Given the description of an element on the screen output the (x, y) to click on. 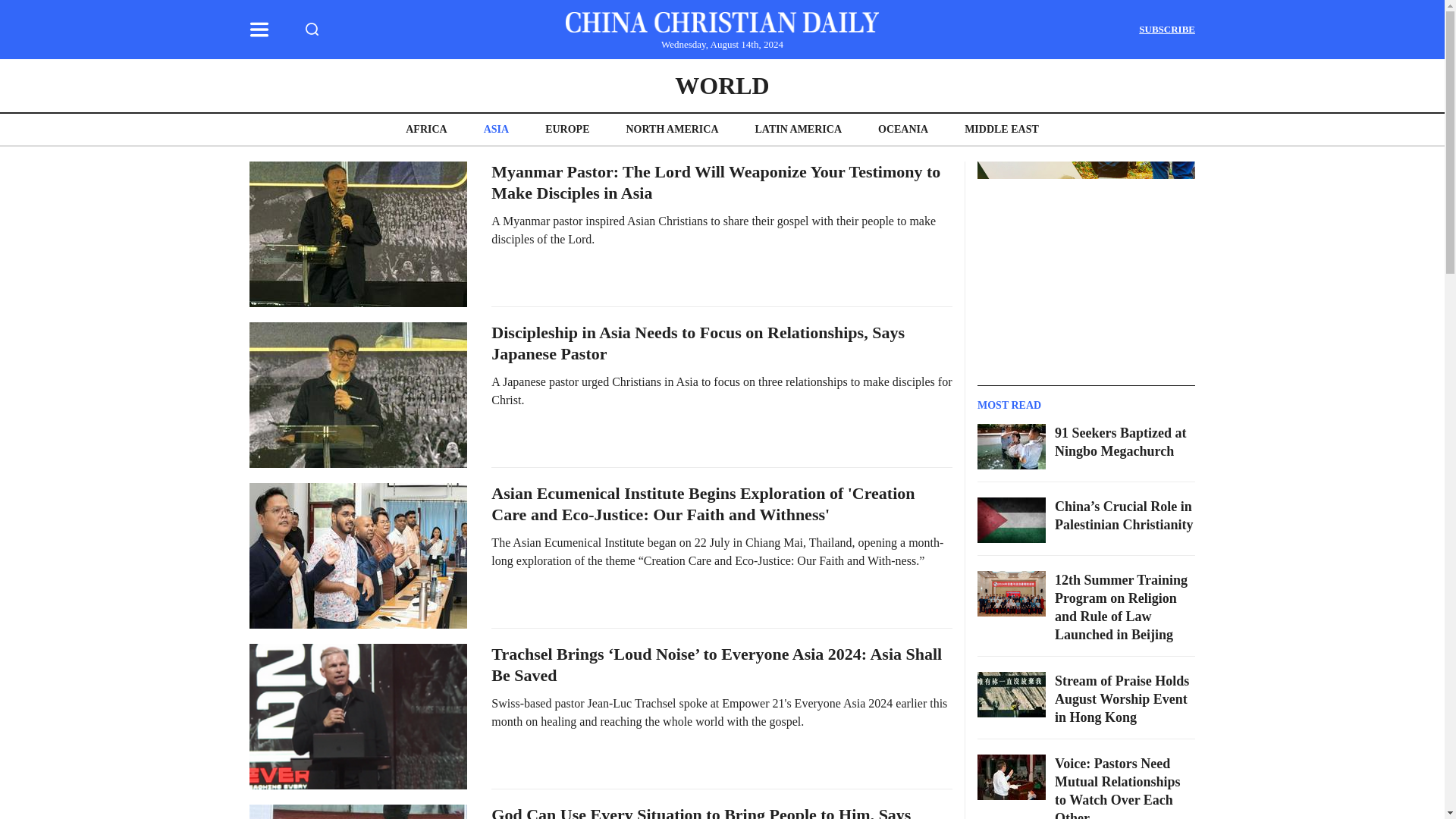
LATIN AMERICA (798, 129)
OCEANIA (902, 129)
ASIA (495, 129)
91 Seekers Baptized at Ningbo Megachurch (1120, 441)
AFRICA (426, 129)
MIDDLE EAST (1001, 129)
